Given the description of an element on the screen output the (x, y) to click on. 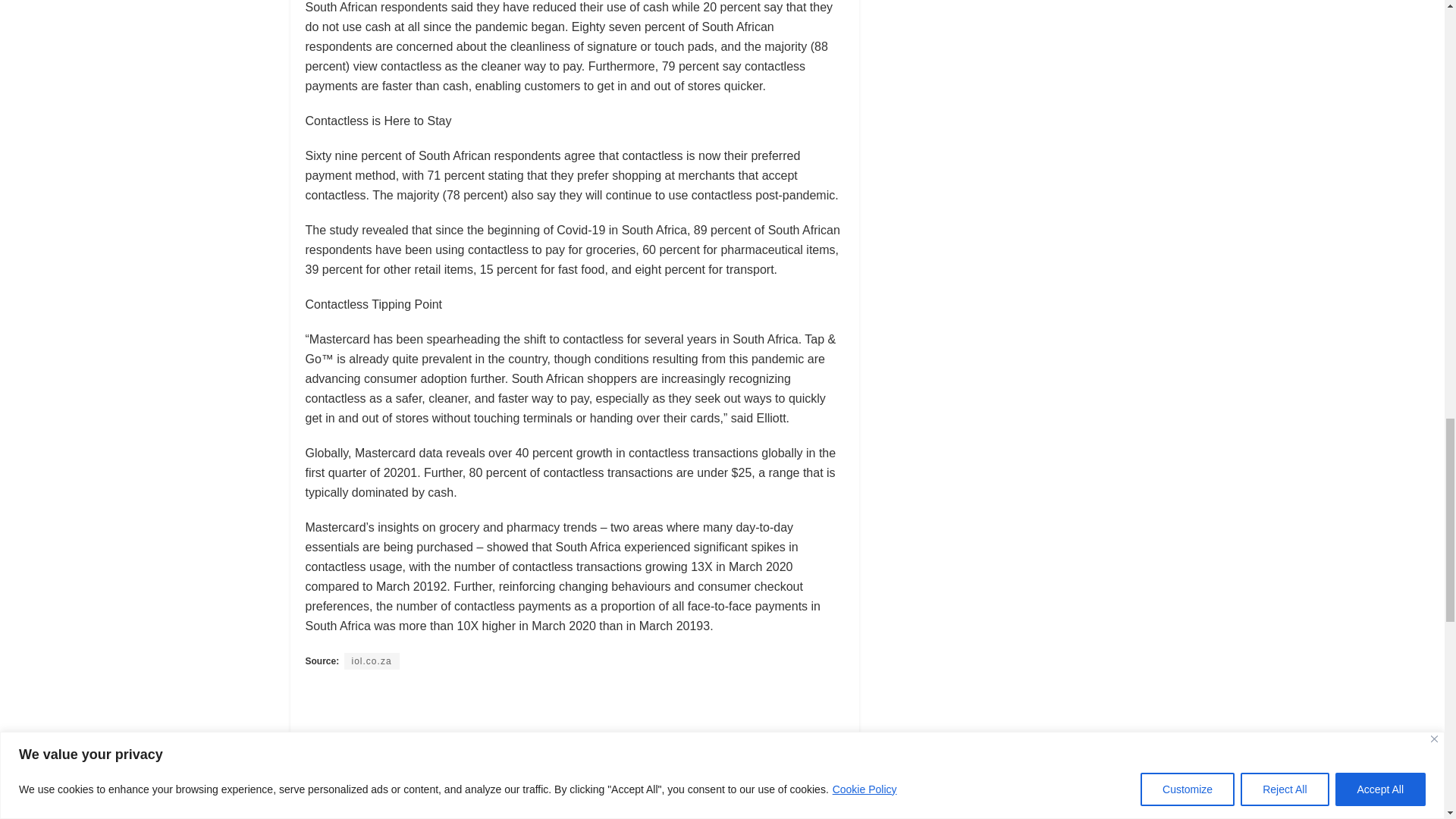
Advertisement (580, 730)
